Given the description of an element on the screen output the (x, y) to click on. 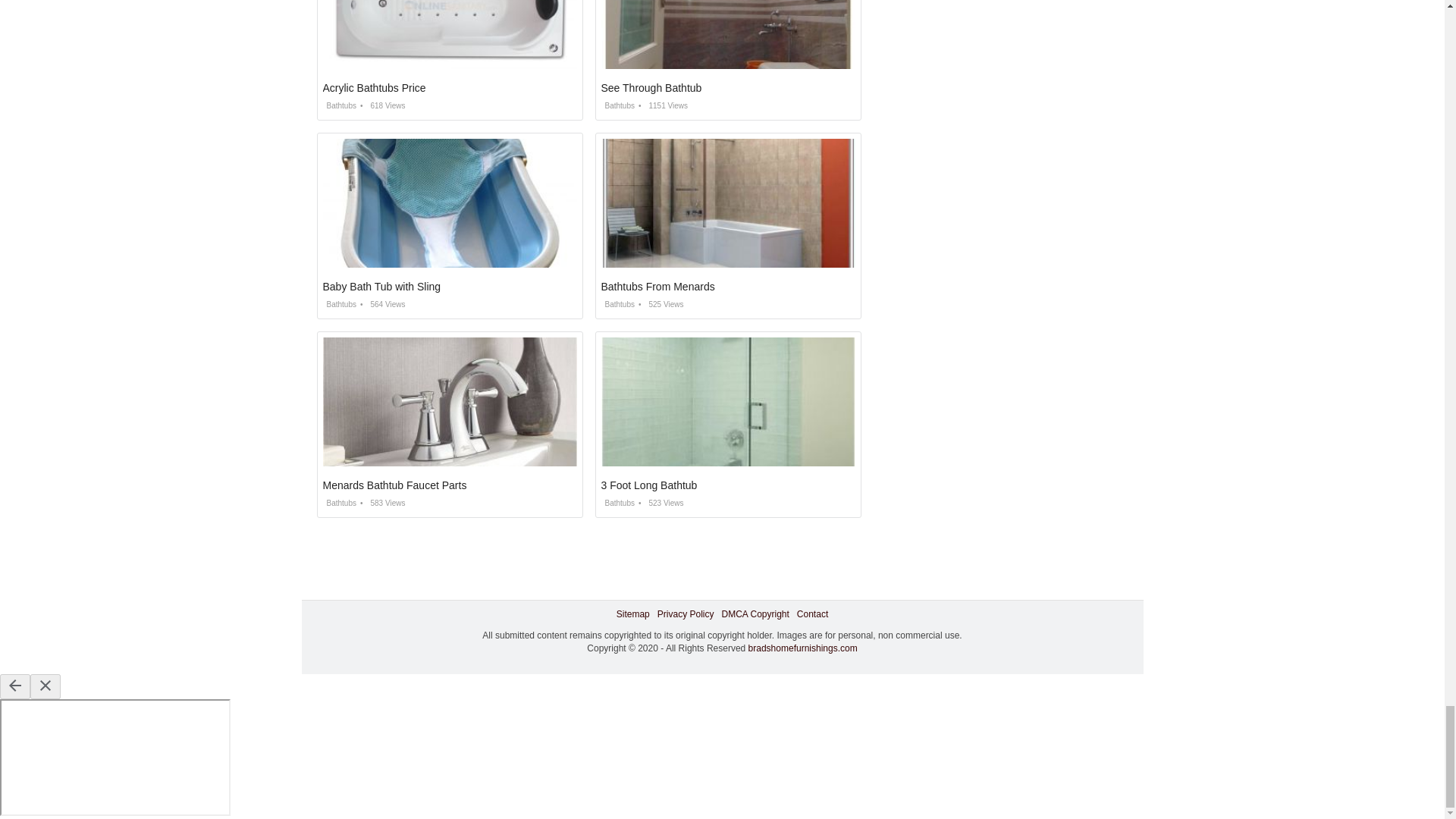
Baby Bath Tub with Sling (382, 286)
Bathtubs From Menards (656, 286)
See Through Bathtub (650, 87)
Bathtubs (616, 105)
Bathtubs (339, 502)
Bathtubs (339, 304)
Acrylic Bathtubs Price (374, 87)
Menards Bathtub Faucet Parts (395, 485)
Bathtubs (616, 502)
Bathtubs (616, 304)
Bathtubs (339, 105)
3 Foot Long Bathtub (648, 485)
